Given the description of an element on the screen output the (x, y) to click on. 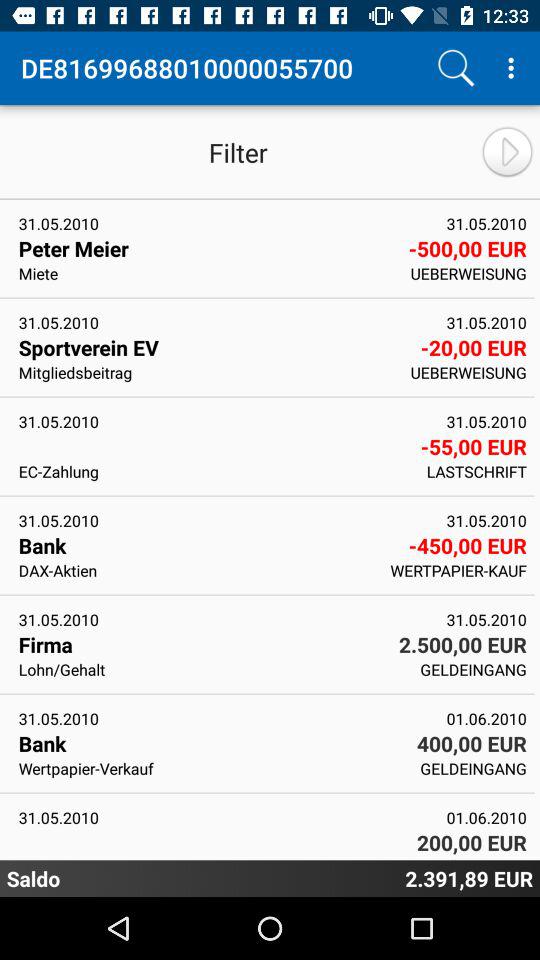
click the icon to the left of 2 500 00 item (201, 644)
